Given the description of an element on the screen output the (x, y) to click on. 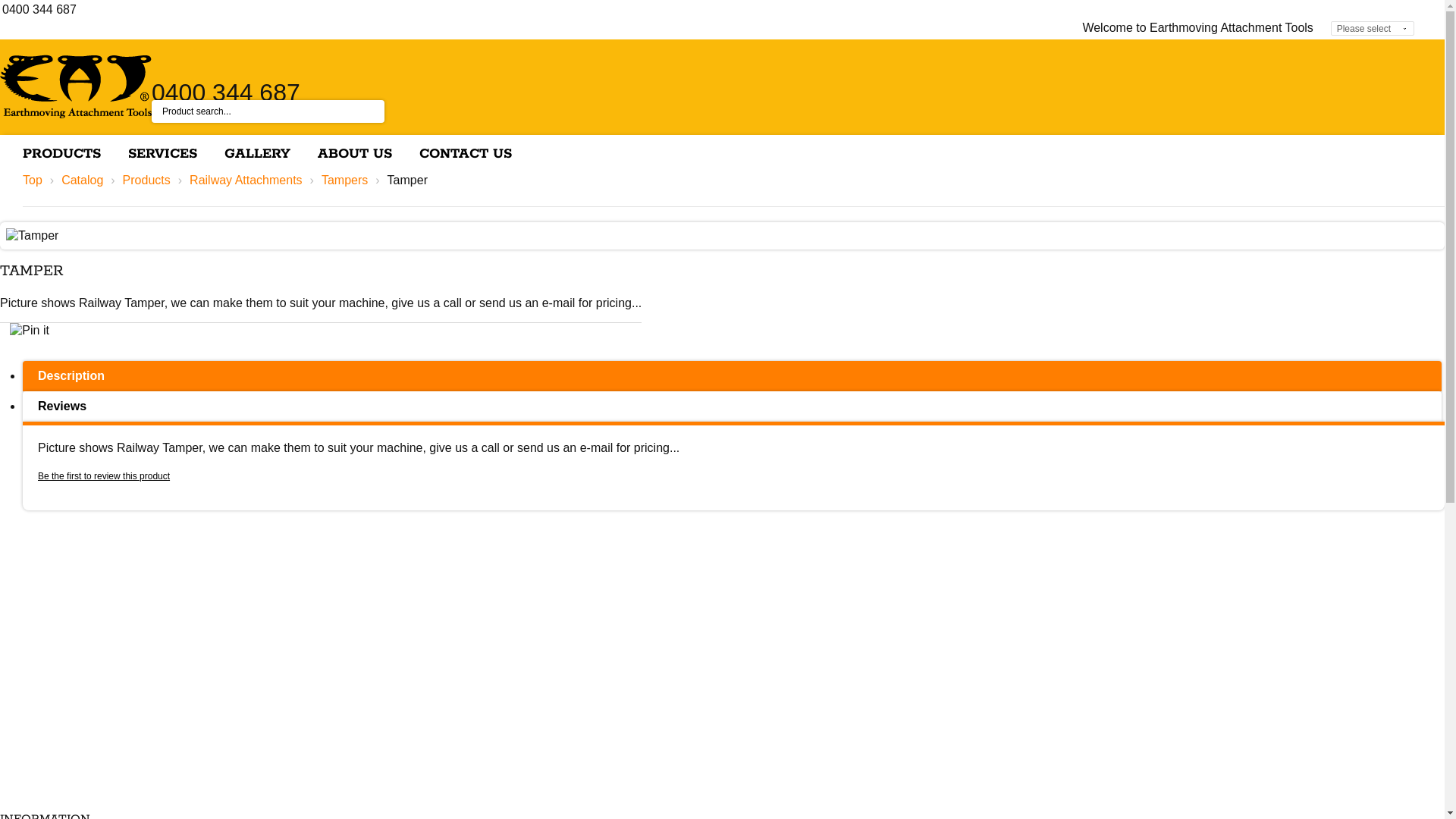
PRODUCTS Element type: text (61, 153)
Tampers Element type: text (344, 180)
Please select Element type: text (1372, 28)
Top Element type: text (32, 180)
0400 344 687 Element type: text (225, 92)
Be the first to review this product Element type: text (103, 475)
Reviews Element type: text (731, 406)
Description Element type: text (731, 375)
Tamper Element type: hover (32, 235)
SERVICES Element type: text (162, 153)
ABOUT US Element type: text (354, 153)
Earthmoving Attachment Tools Element type: hover (75, 86)
GALLERY Element type: text (257, 153)
Catalog Element type: text (82, 180)
Products Element type: text (146, 180)
CONTACT US Element type: text (465, 153)
Railway Attachments Element type: text (245, 180)
